Given the description of an element on the screen output the (x, y) to click on. 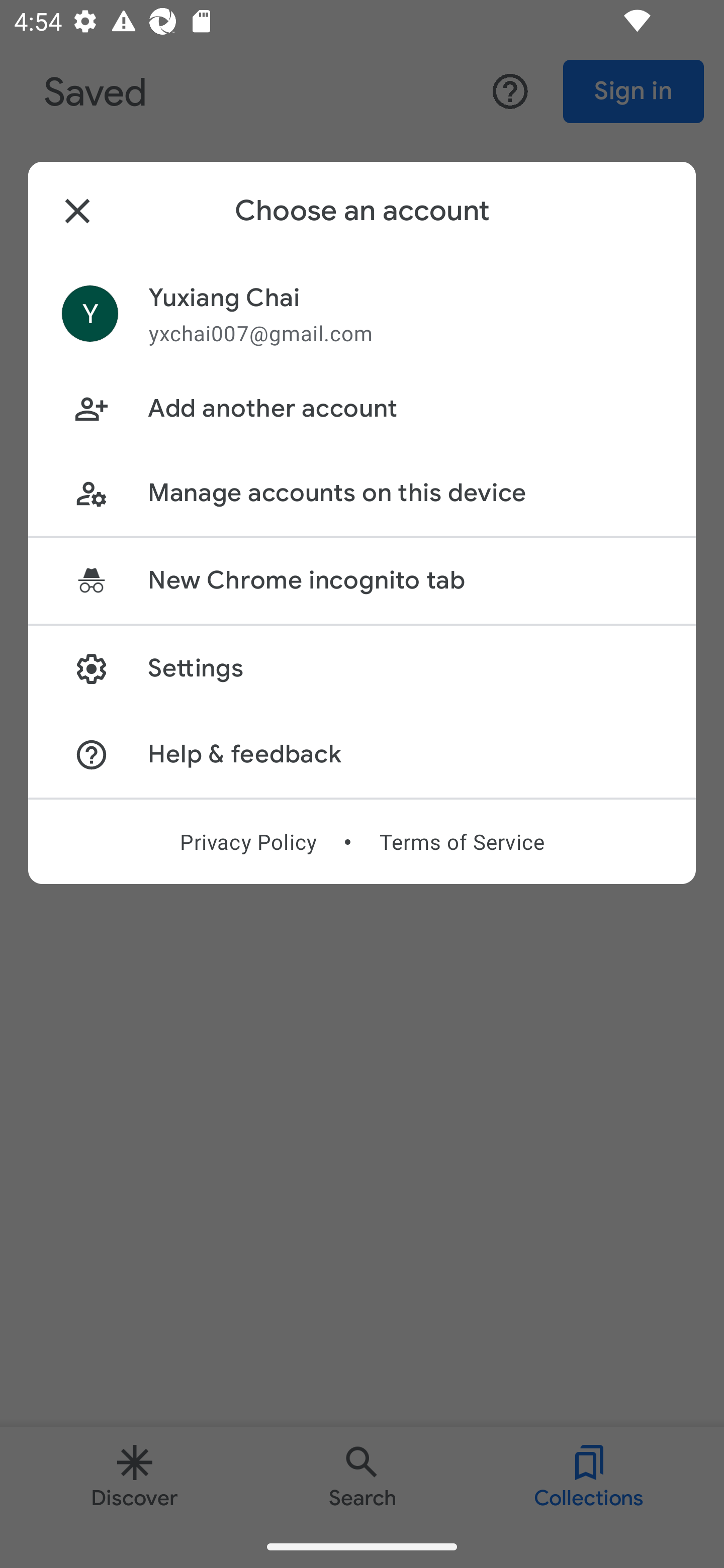
Close (77, 210)
Privacy Policy (247, 841)
Terms of Service (461, 841)
